Given the description of an element on the screen output the (x, y) to click on. 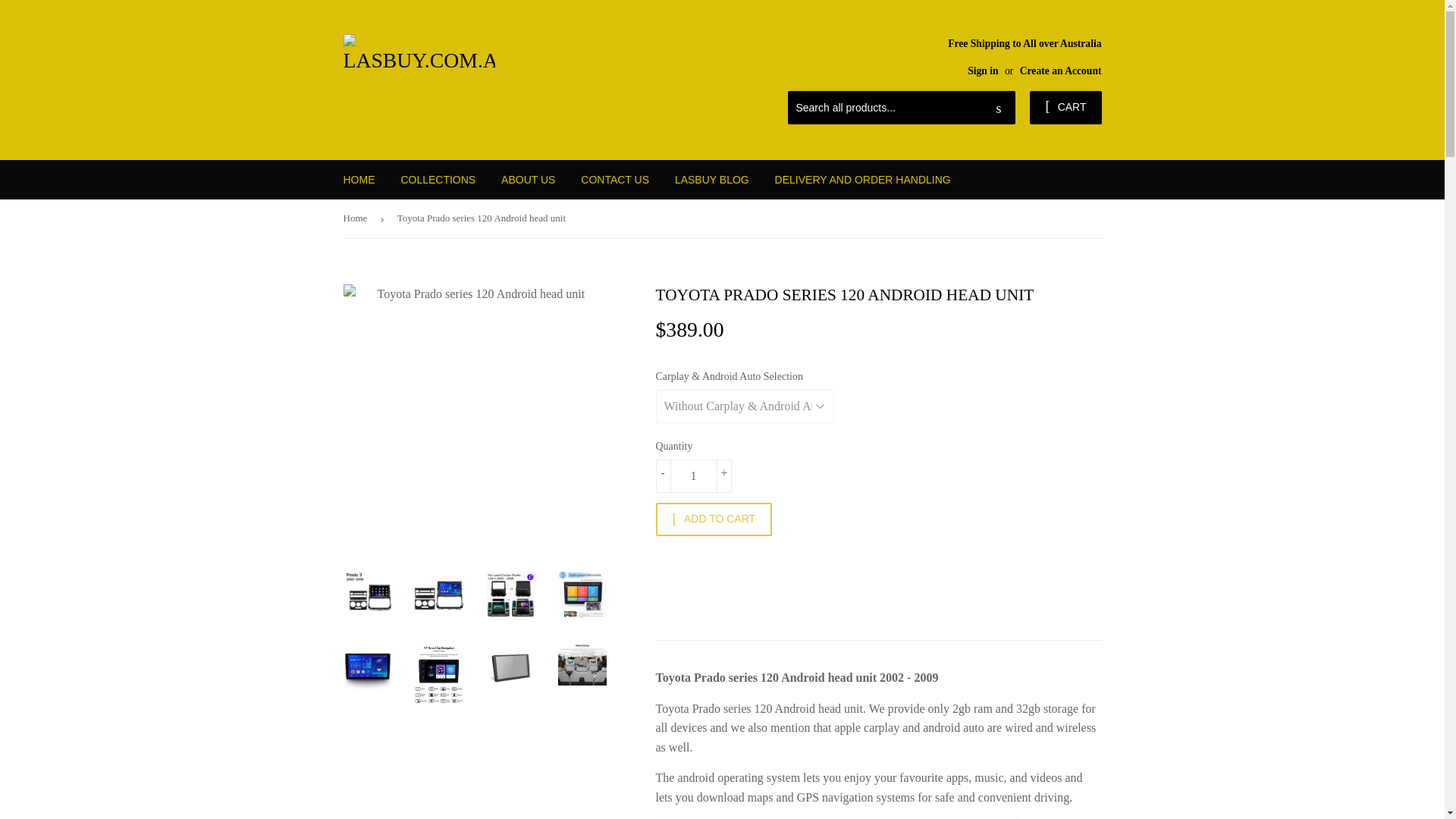
Create an Account (1061, 70)
HOME (359, 179)
LASBUY BLOG (711, 179)
CART (1064, 107)
Search (997, 108)
CONTACT US (615, 179)
DELIVERY AND ORDER HANDLING (862, 179)
Free Shipping to All over Australia (1023, 56)
Sign in (982, 70)
COLLECTIONS (437, 179)
